Given the description of an element on the screen output the (x, y) to click on. 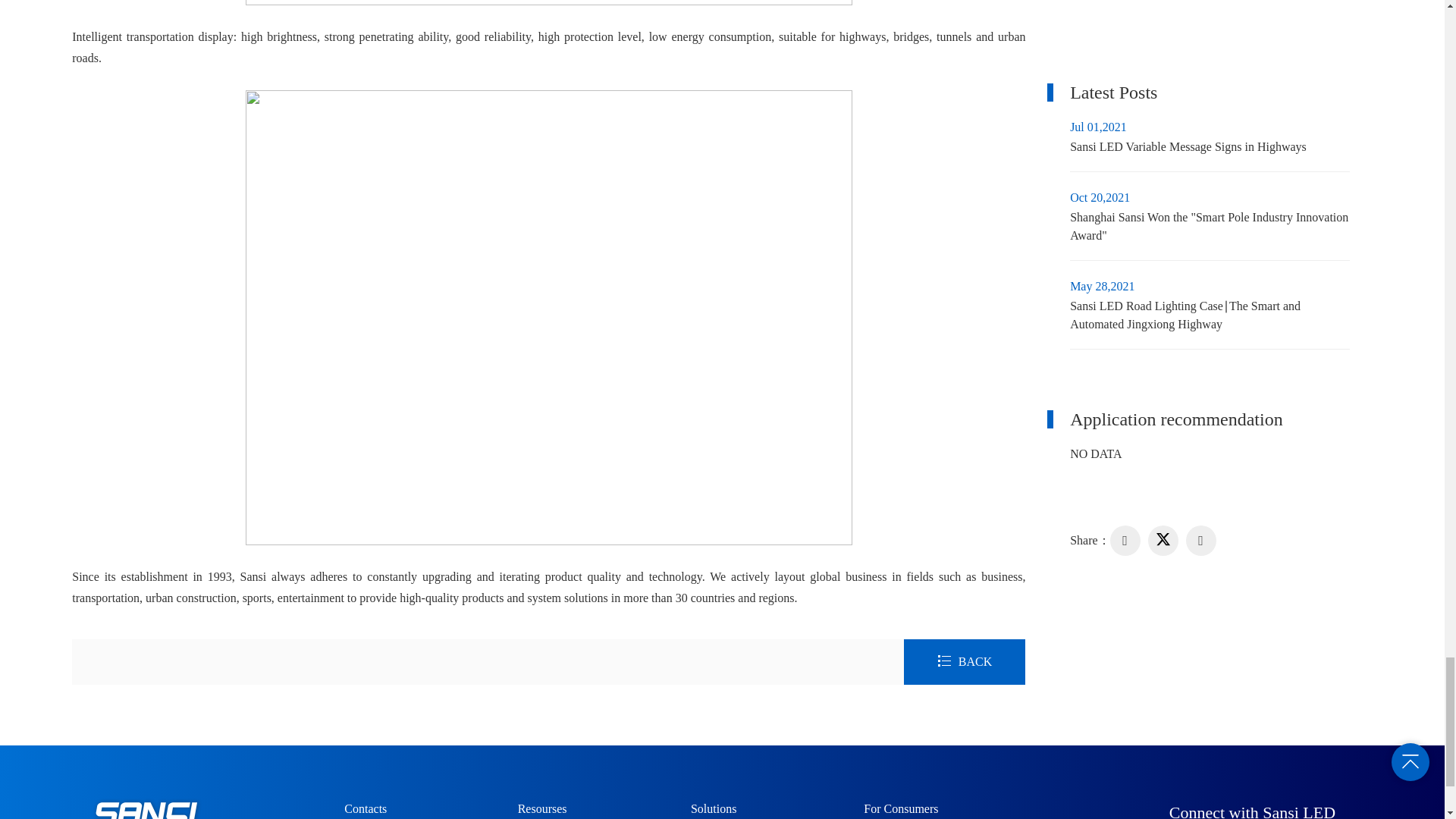
BACK (964, 660)
